Given the description of an element on the screen output the (x, y) to click on. 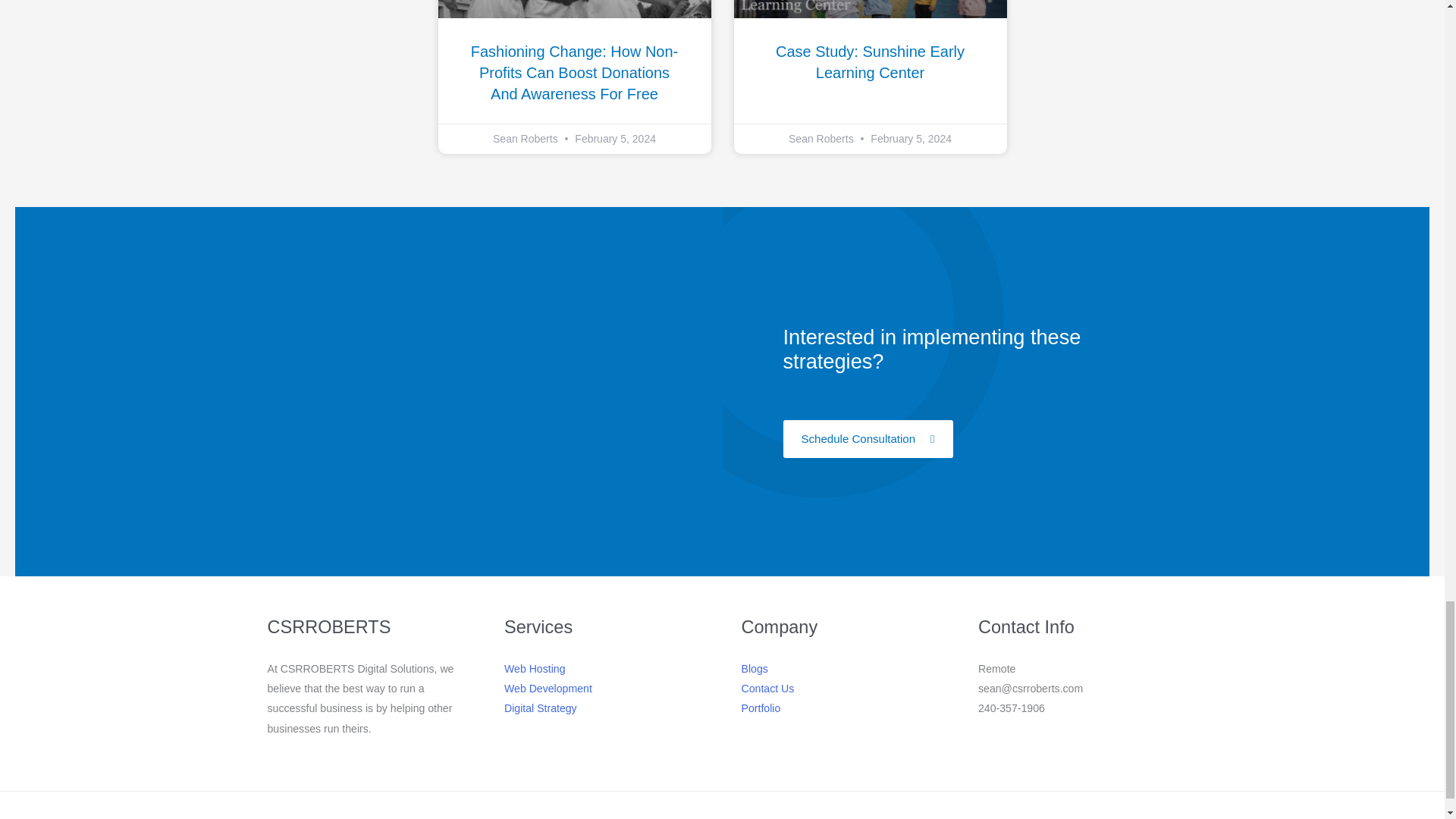
Digital Strategy (539, 707)
Case Study: Sunshine Early Learning Center (869, 62)
Schedule Consultation (867, 438)
Portfolio (760, 707)
Blogs (754, 668)
Web Hosting (534, 668)
Web Development (547, 688)
Contact Us (767, 688)
